Given the description of an element on the screen output the (x, y) to click on. 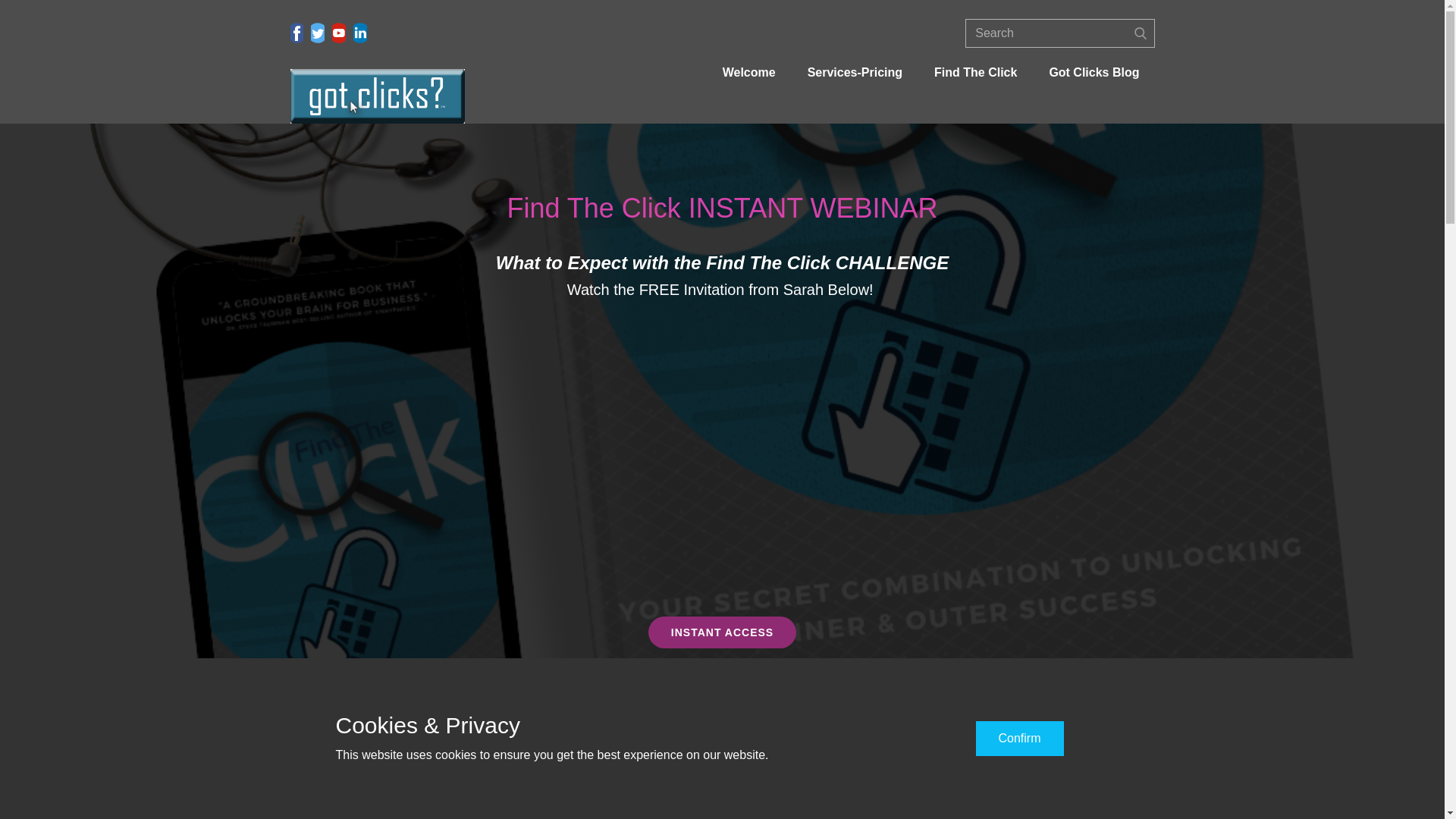
Find The Click (975, 72)
LinkedIn (359, 32)
twitter (317, 32)
facebook (295, 32)
Welcome (748, 72)
INSTANT ACCESS (721, 632)
YouTube (338, 32)
Services-Pricing (854, 72)
Got Clicks Blog (1093, 72)
Confirm (1018, 738)
Got Clicks Welcome (376, 95)
